Given the description of an element on the screen output the (x, y) to click on. 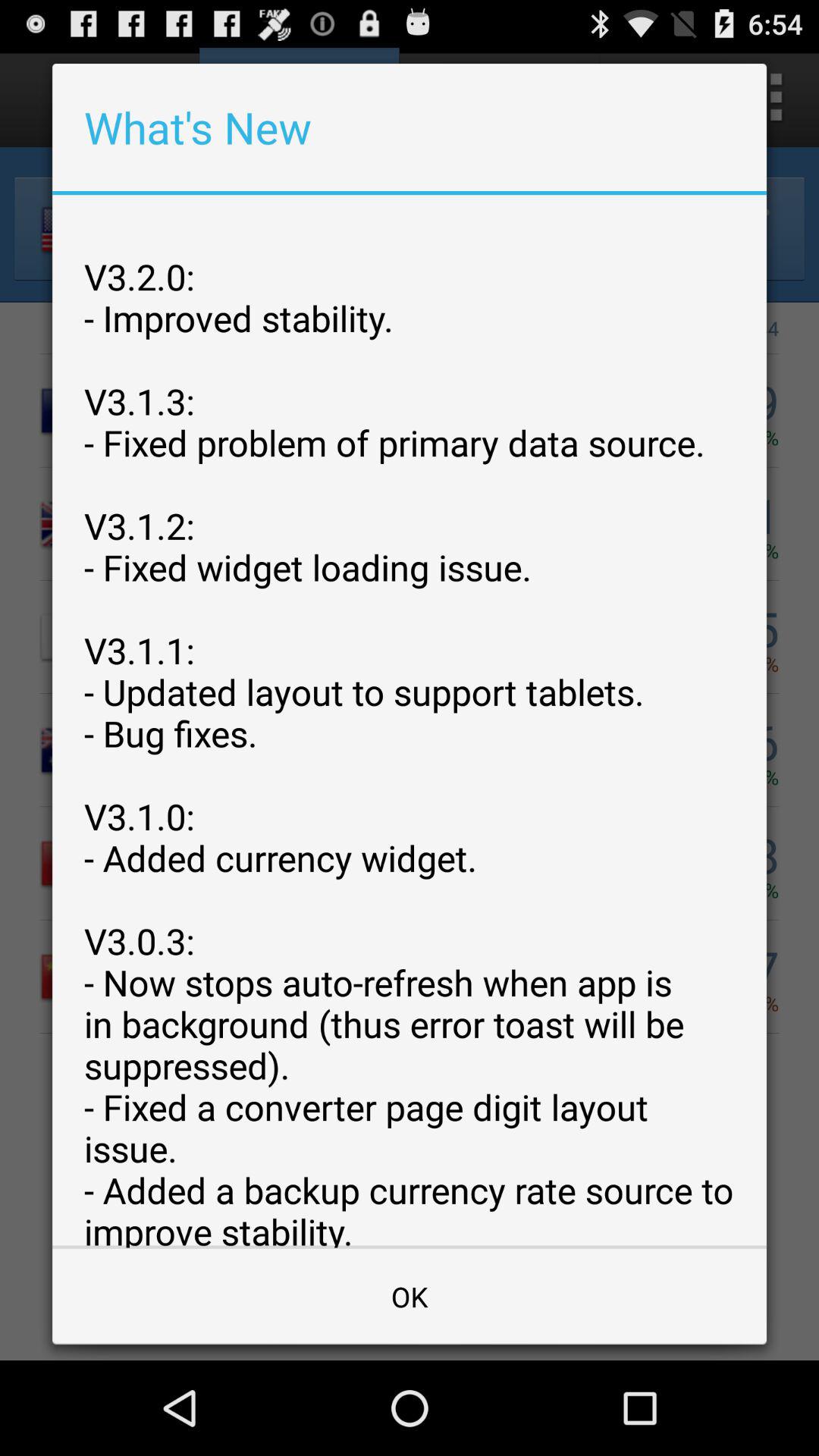
scroll to ok icon (409, 1296)
